Given the description of an element on the screen output the (x, y) to click on. 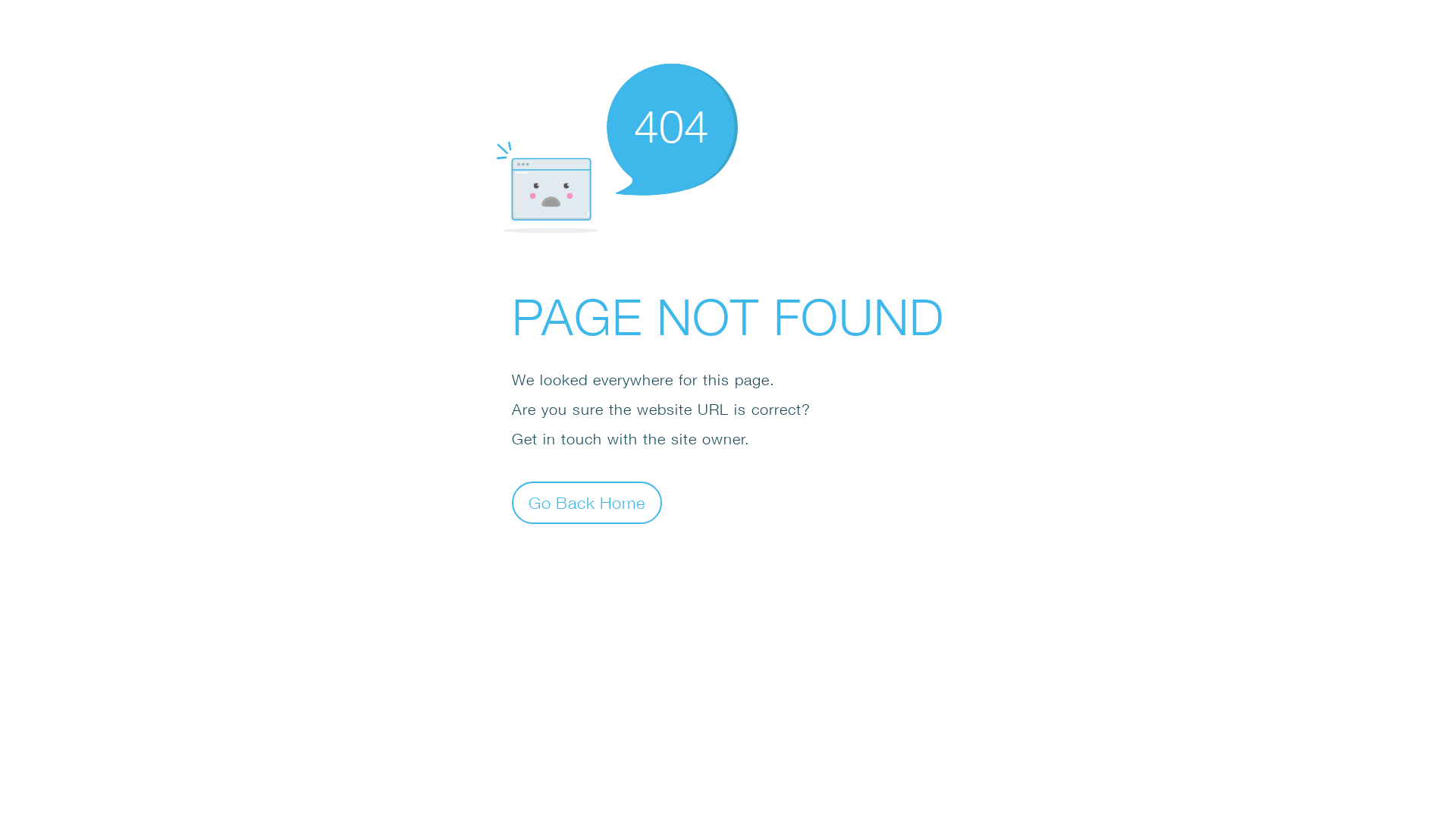
Go Back Home Element type: text (586, 502)
